Given the description of an element on the screen output the (x, y) to click on. 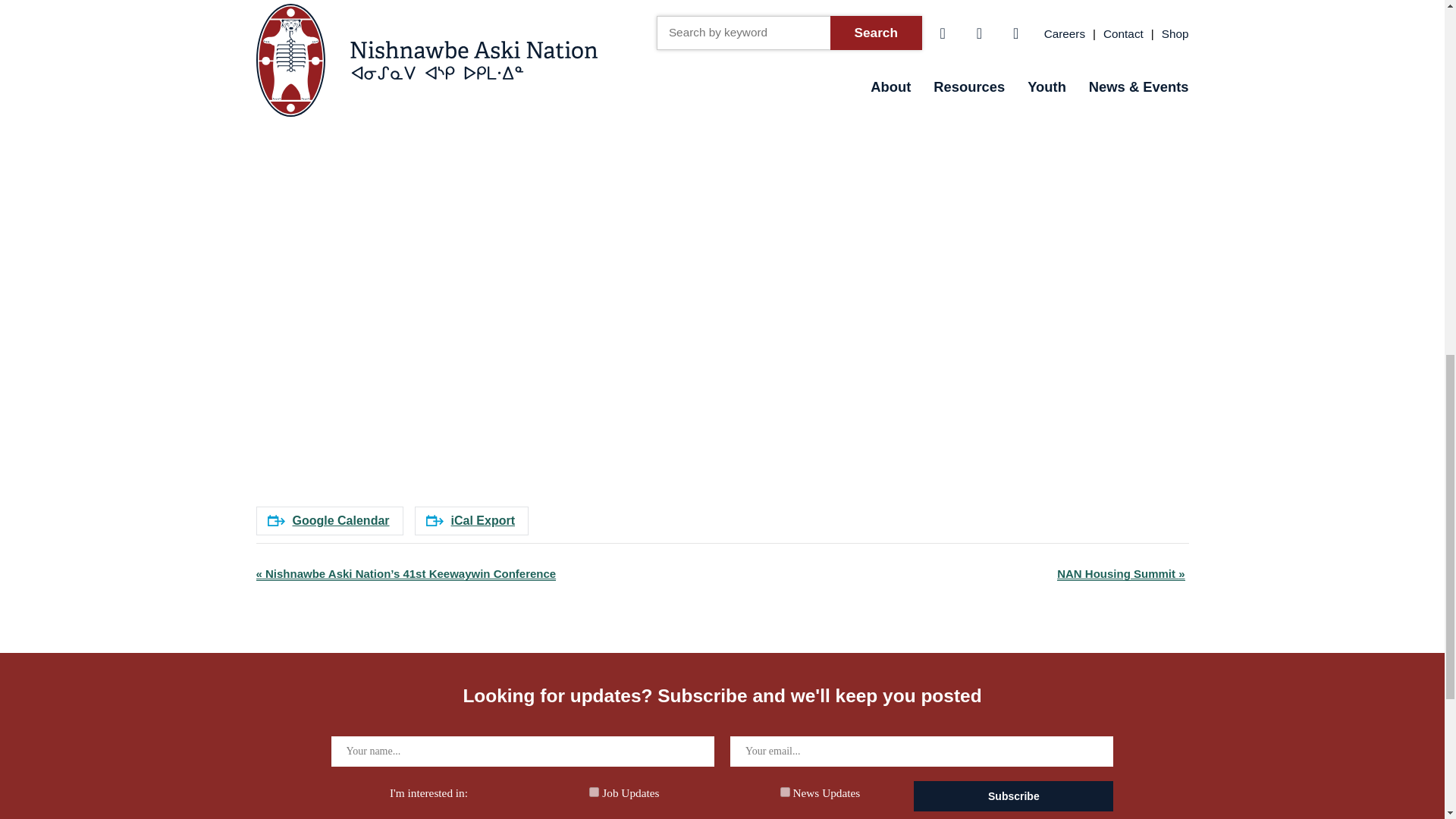
iCal Export (471, 520)
Google Calendar (329, 520)
2dda4521bf (785, 791)
015c96b9e4 (593, 791)
Subscribe (1013, 796)
Download .ics file (471, 520)
Add to Google Calendar (329, 520)
Subscribe (1013, 796)
